Given the description of an element on the screen output the (x, y) to click on. 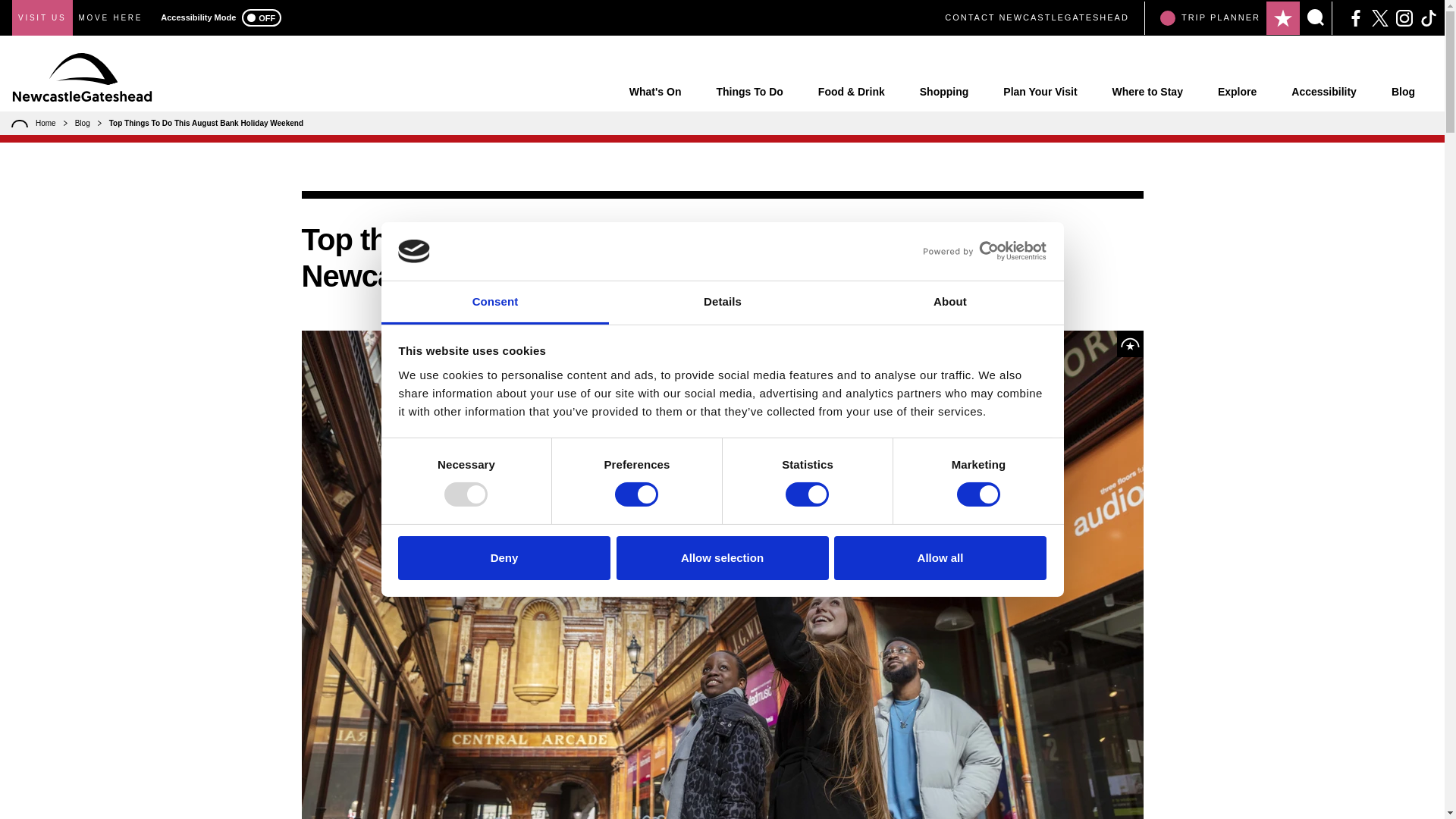
Instagram (1404, 17)
Details (721, 302)
Consent (494, 302)
TikTok (1429, 17)
About (948, 302)
Contact NewcastleGateshead (1036, 17)
Facebook (1356, 17)
Newcastle Gateshead (81, 77)
View Your Itinerary (1283, 18)
